Given the description of an element on the screen output the (x, y) to click on. 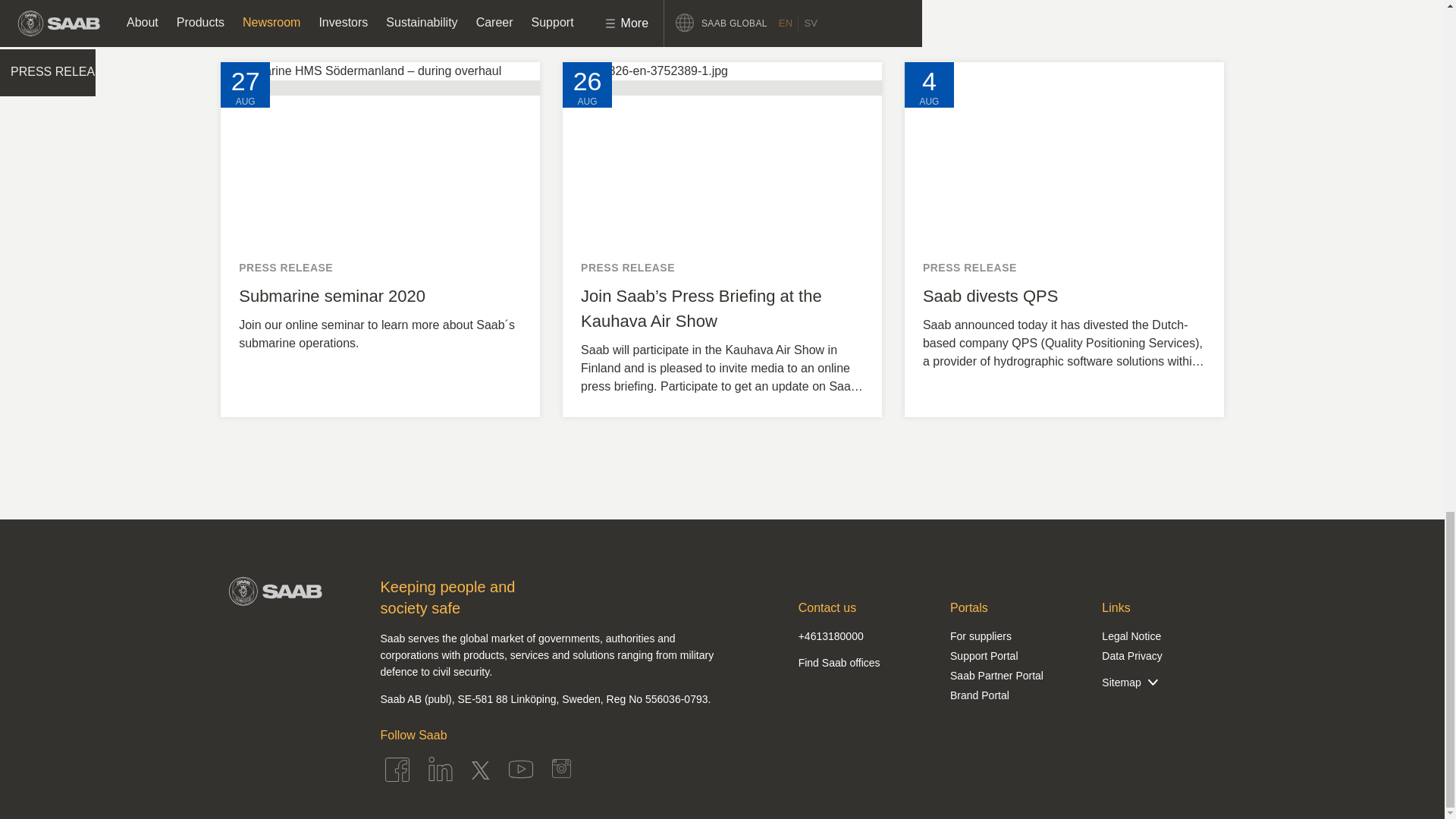
Go to homepage (285, 591)
